Given the description of an element on the screen output the (x, y) to click on. 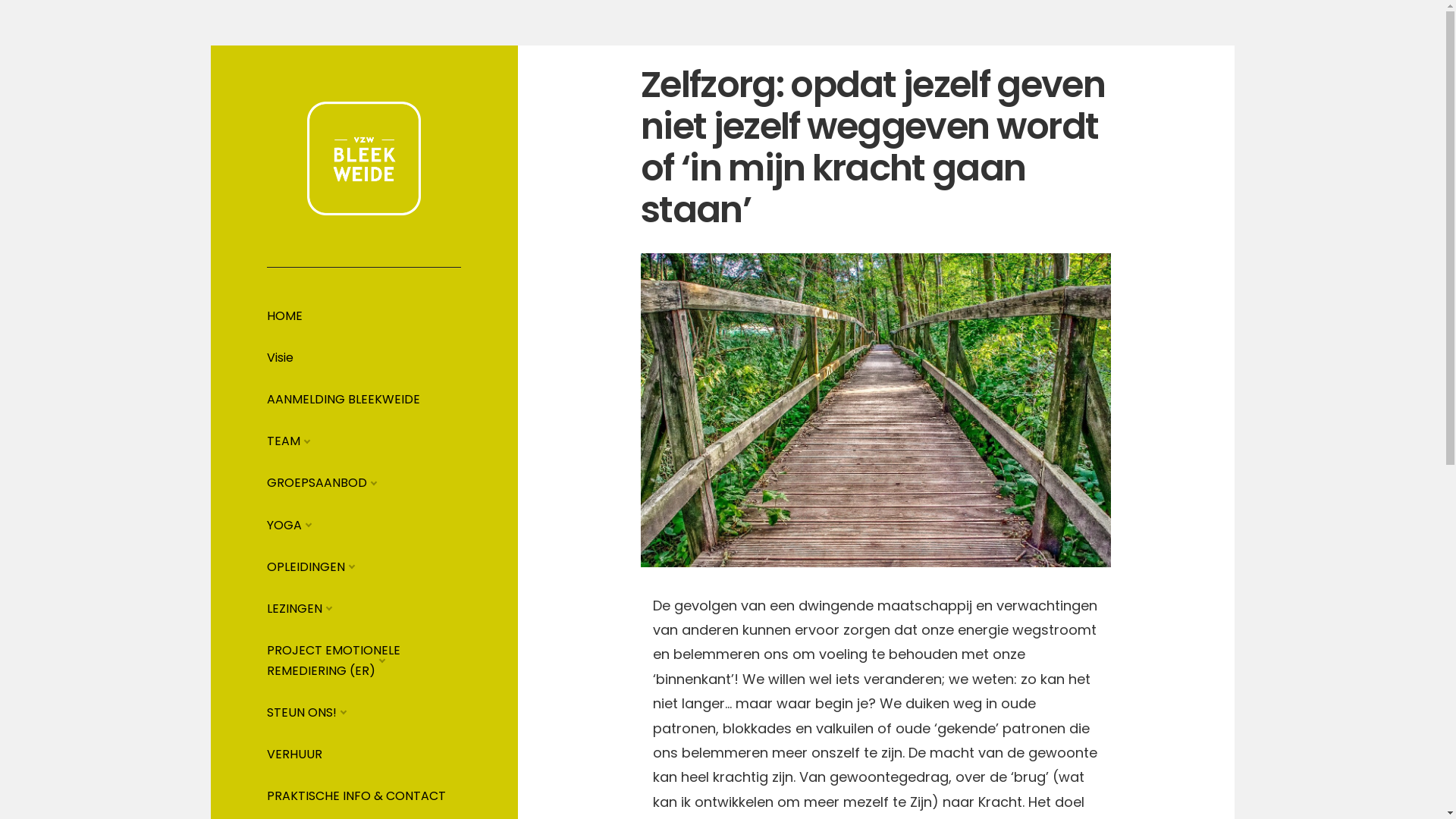
YOGA Element type: text (283, 524)
HOME Element type: text (284, 315)
brug 2 Element type: hover (875, 409)
AANMELDING BLEEKWEIDE Element type: text (343, 398)
STEUN ONS! Element type: text (301, 712)
VERHUUR Element type: text (294, 753)
OPLEIDINGEN Element type: text (305, 566)
TEAM Element type: text (283, 440)
GROEPSAANBOD Element type: text (316, 482)
PROJECT EMOTIONELE REMEDIERING (ER) Element type: text (333, 659)
PRAKTISCHE INFO & CONTACT Element type: text (355, 795)
Visie Element type: text (279, 357)
LEZINGEN Element type: text (294, 608)
